Given the description of an element on the screen output the (x, y) to click on. 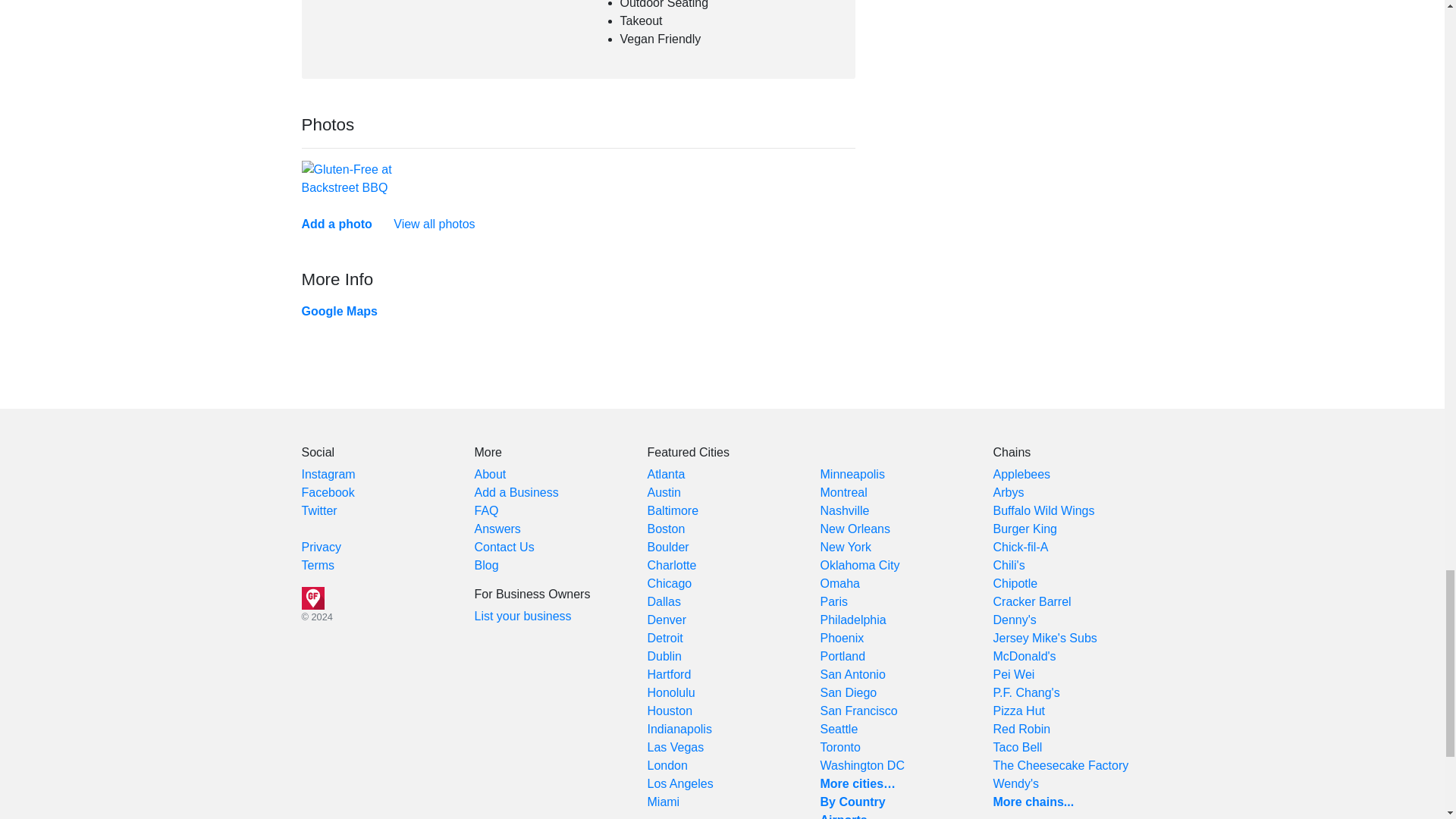
Privacy (320, 546)
Google Maps (339, 310)
Facebook (328, 492)
Terms (317, 564)
Add a photo (336, 223)
View all photos (433, 223)
Twitter (319, 510)
Instagram (328, 473)
